Given the description of an element on the screen output the (x, y) to click on. 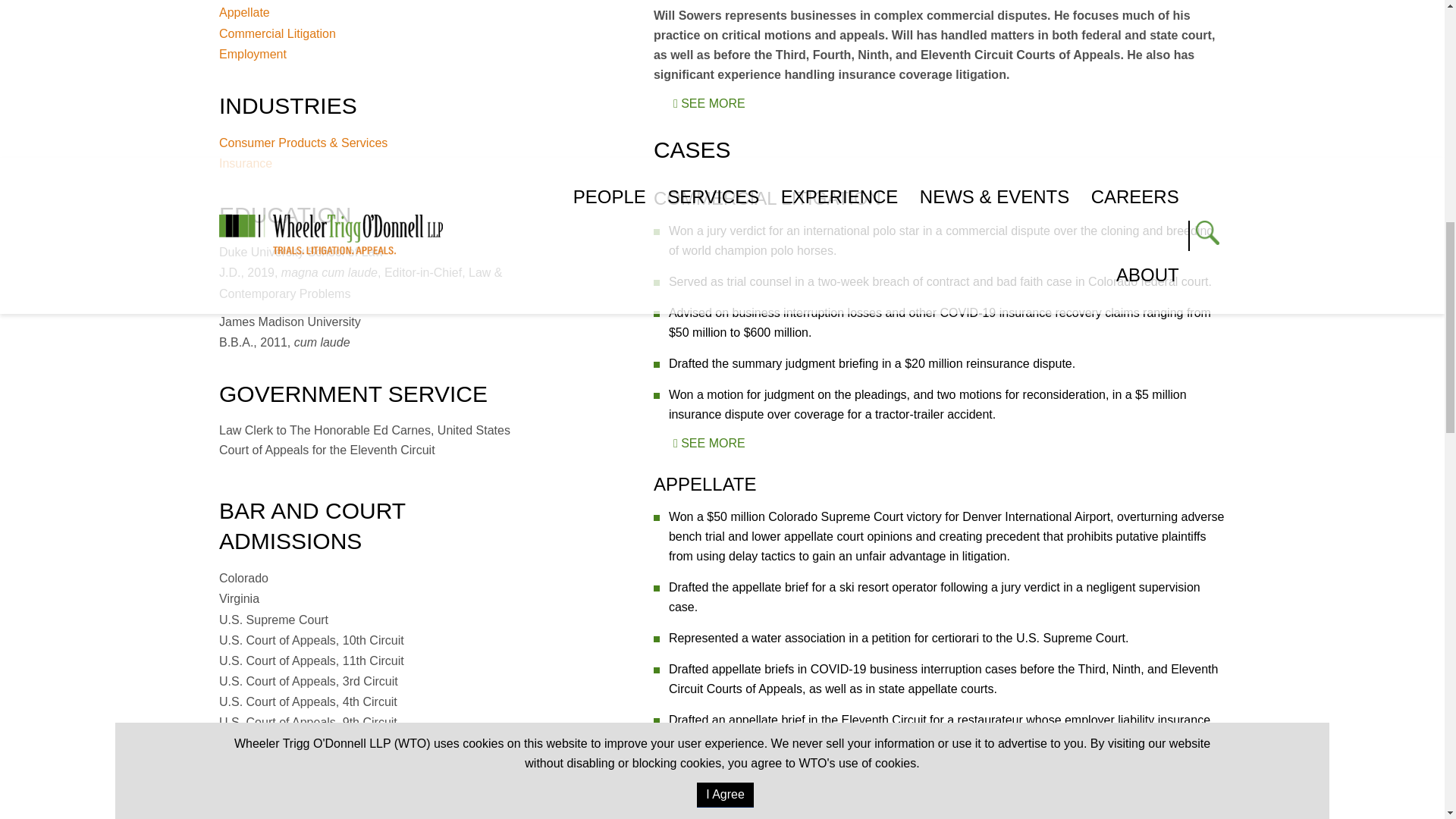
SEE MORE (708, 768)
Commercial Litigation (374, 33)
SEE MORE (708, 443)
Appellate (374, 12)
Insurance (374, 163)
Employment (374, 54)
SEE MORE (708, 103)
